Given the description of an element on the screen output the (x, y) to click on. 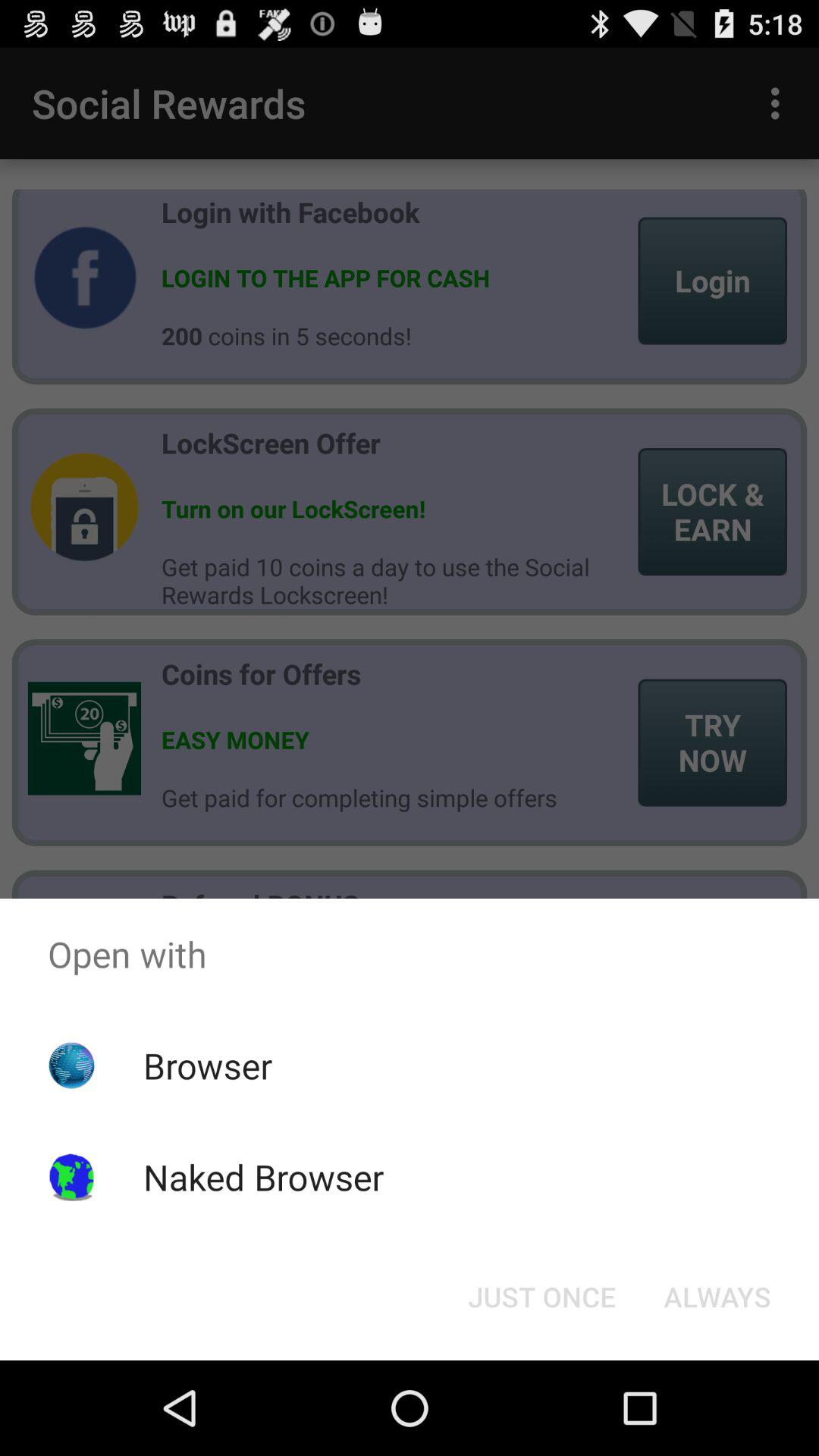
click the naked browser icon (263, 1176)
